Given the description of an element on the screen output the (x, y) to click on. 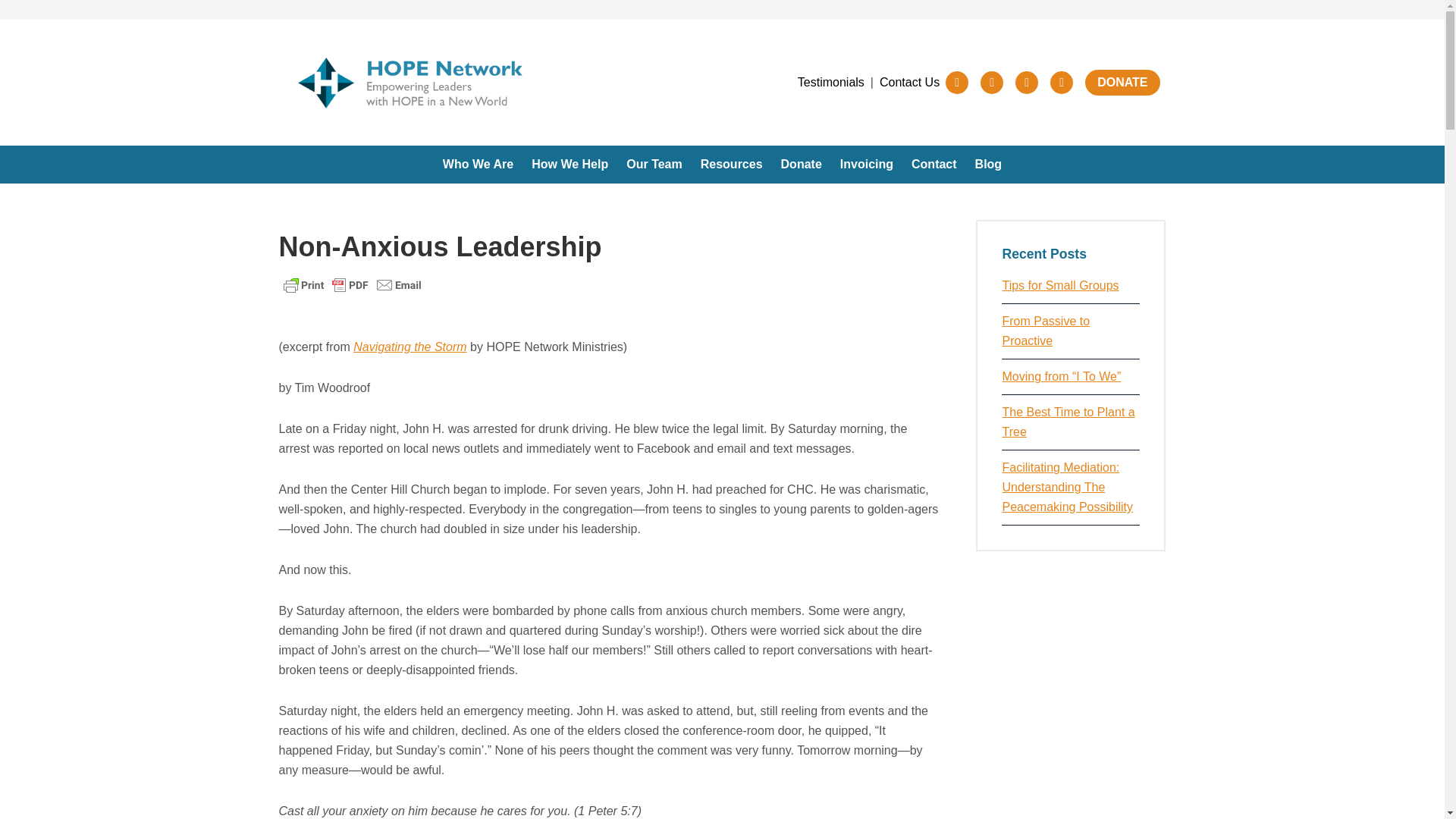
Testimonials (830, 82)
Invoicing (866, 164)
Navigating the Storm (409, 346)
Blog (989, 164)
Who We Are (477, 164)
How We Help (569, 164)
DONATE (1121, 82)
Tips for Small Groups (1059, 285)
Resources (731, 164)
Contact (933, 164)
Donate (801, 164)
Our Team (654, 164)
The Best Time to Plant a Tree (1067, 421)
Contact Us (909, 82)
